Given the description of an element on the screen output the (x, y) to click on. 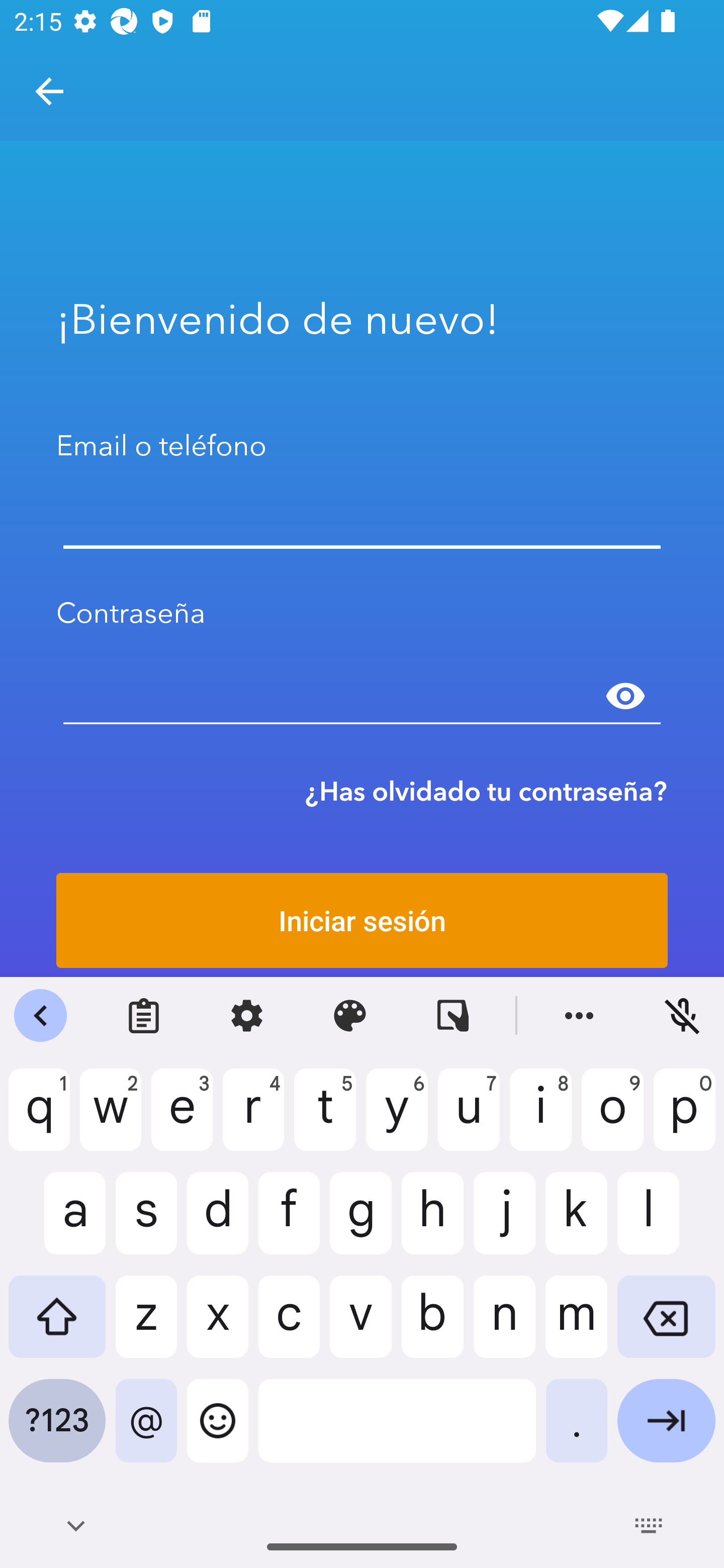
Navegar hacia arriba (49, 91)
Mostrar contraseña (625, 695)
¿Has olvidado tu contraseña? (486, 790)
Iniciar sesión (361, 920)
